Given the description of an element on the screen output the (x, y) to click on. 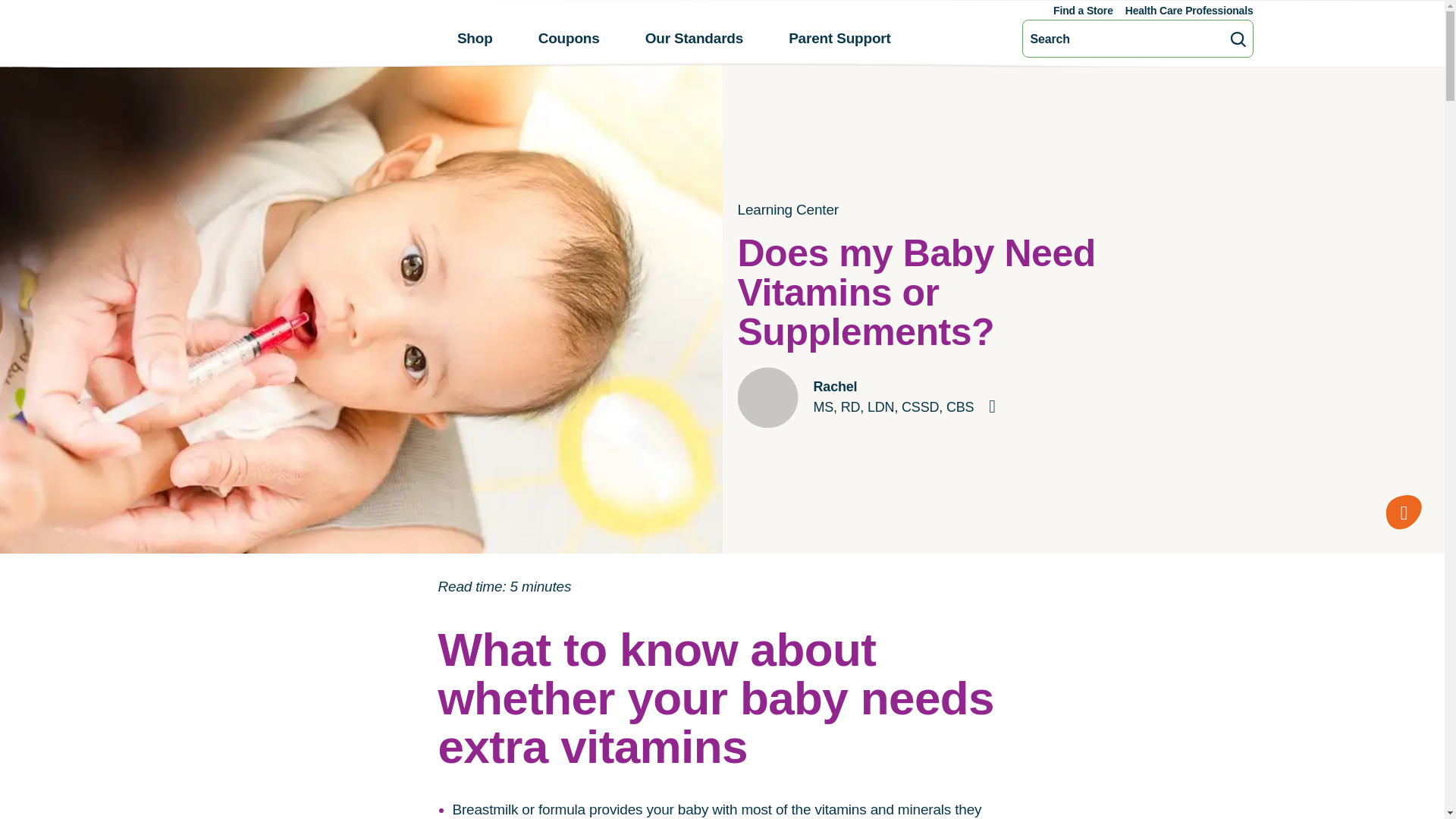
Learning Center (787, 210)
Health Care Professionals (1189, 10)
Parent Support (840, 37)
Our Standards (694, 37)
Shop (475, 38)
Find a Store (1082, 10)
Coupons (568, 37)
